Given the description of an element on the screen output the (x, y) to click on. 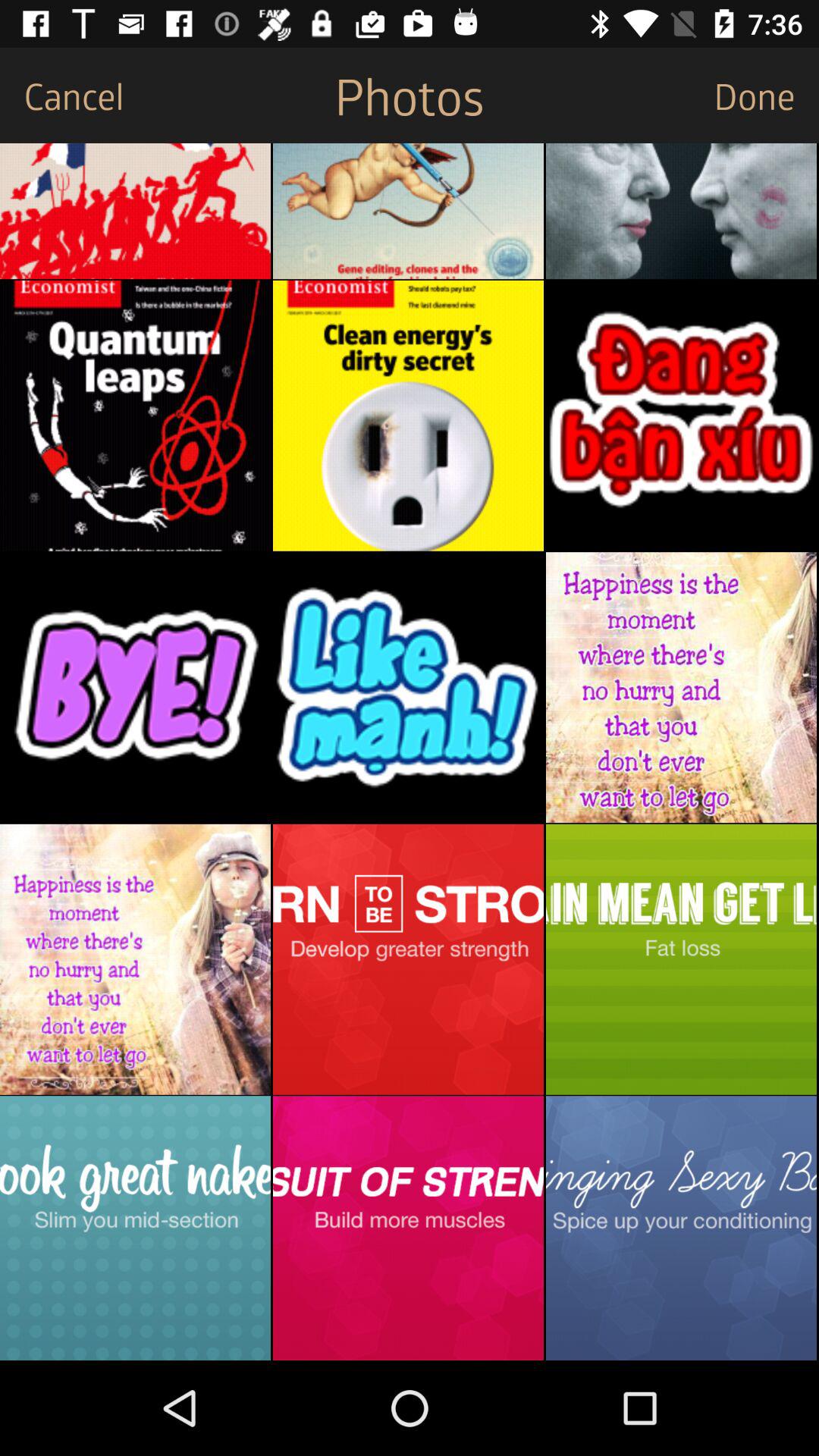
select the photos icon (409, 95)
